Given the description of an element on the screen output the (x, y) to click on. 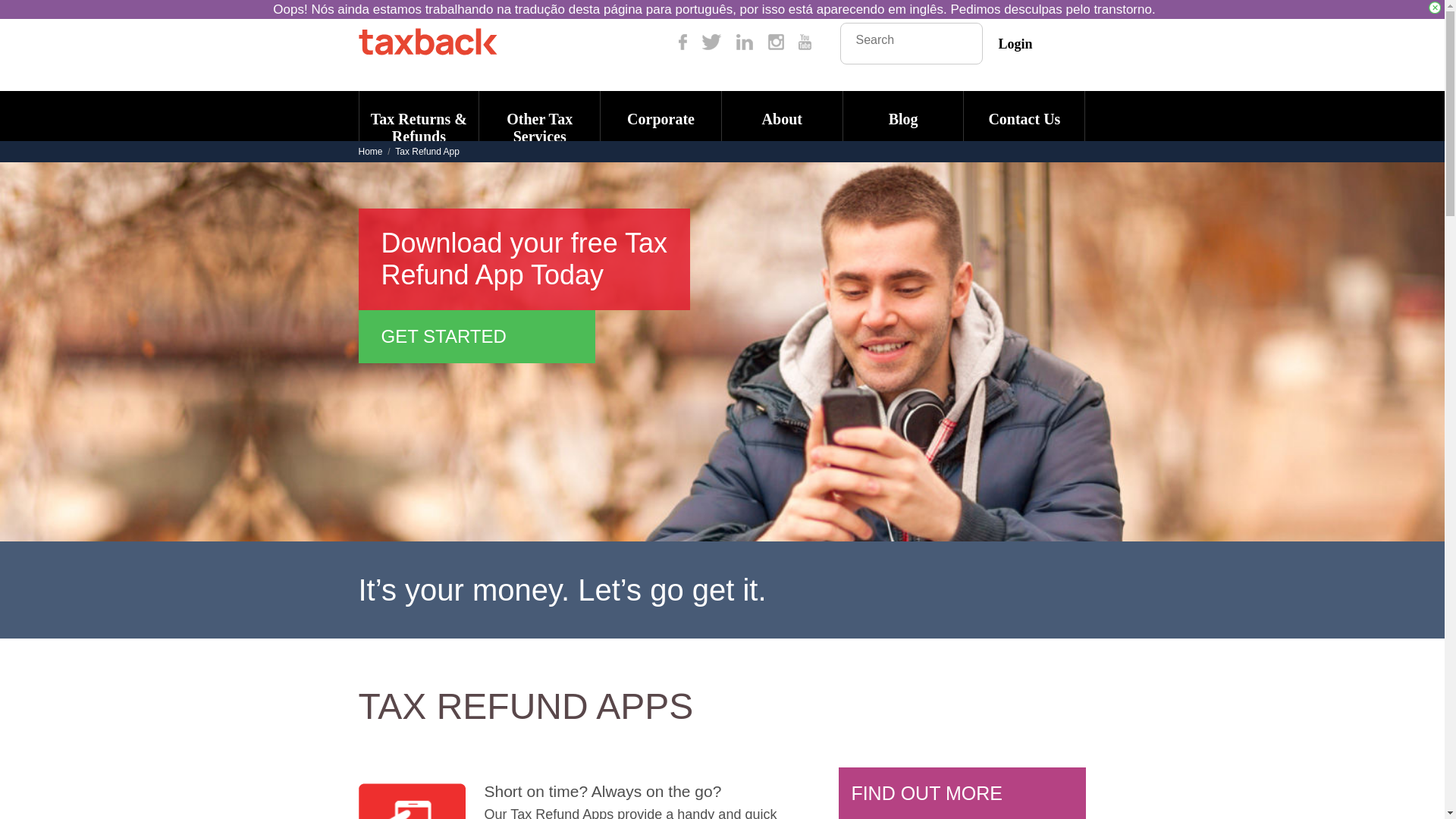
Twitter (710, 41)
Linkedin (744, 41)
Login (1014, 44)
Instagram (776, 41)
